Given the description of an element on the screen output the (x, y) to click on. 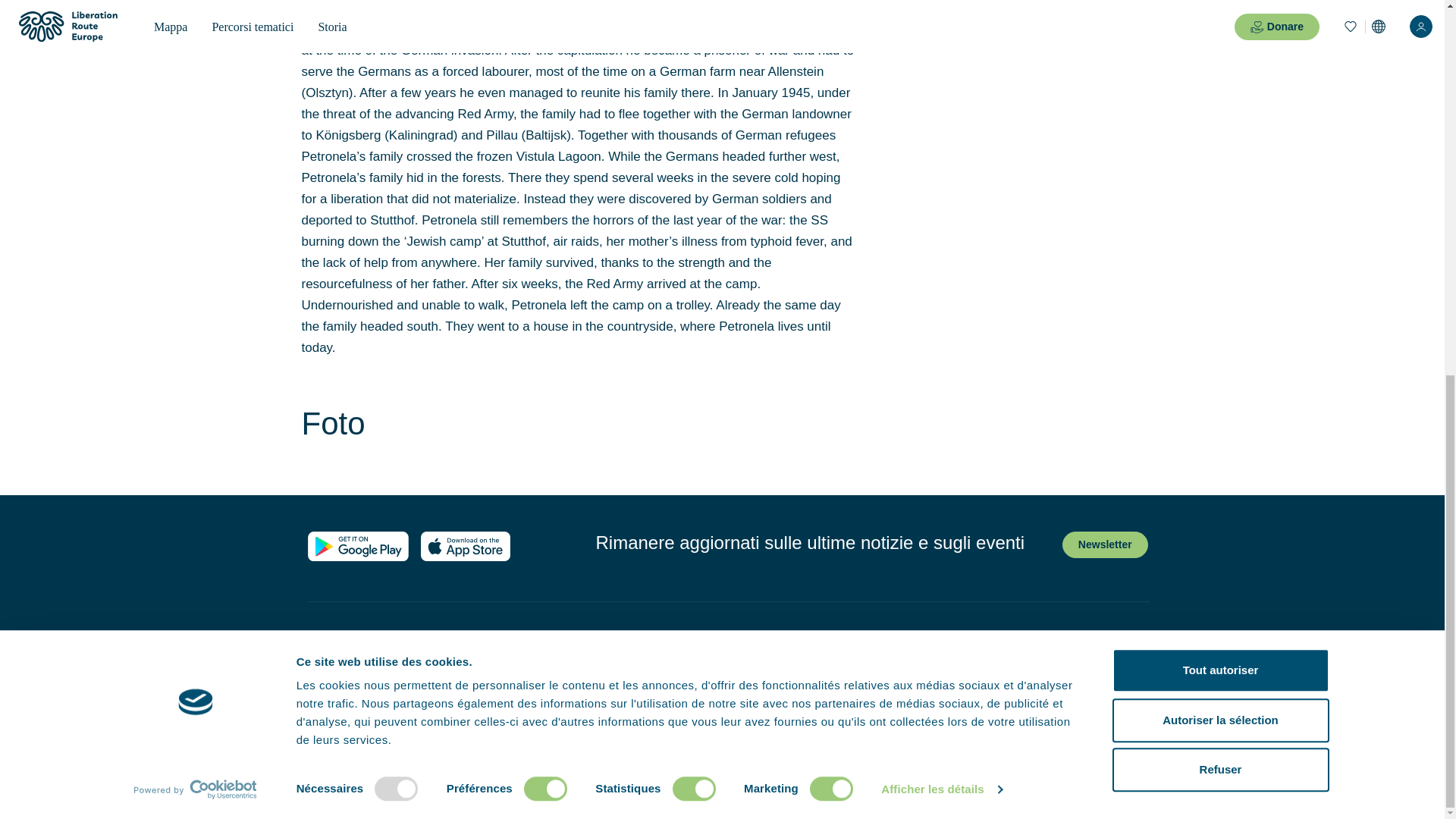
Refuser (1219, 80)
